Given the description of an element on the screen output the (x, y) to click on. 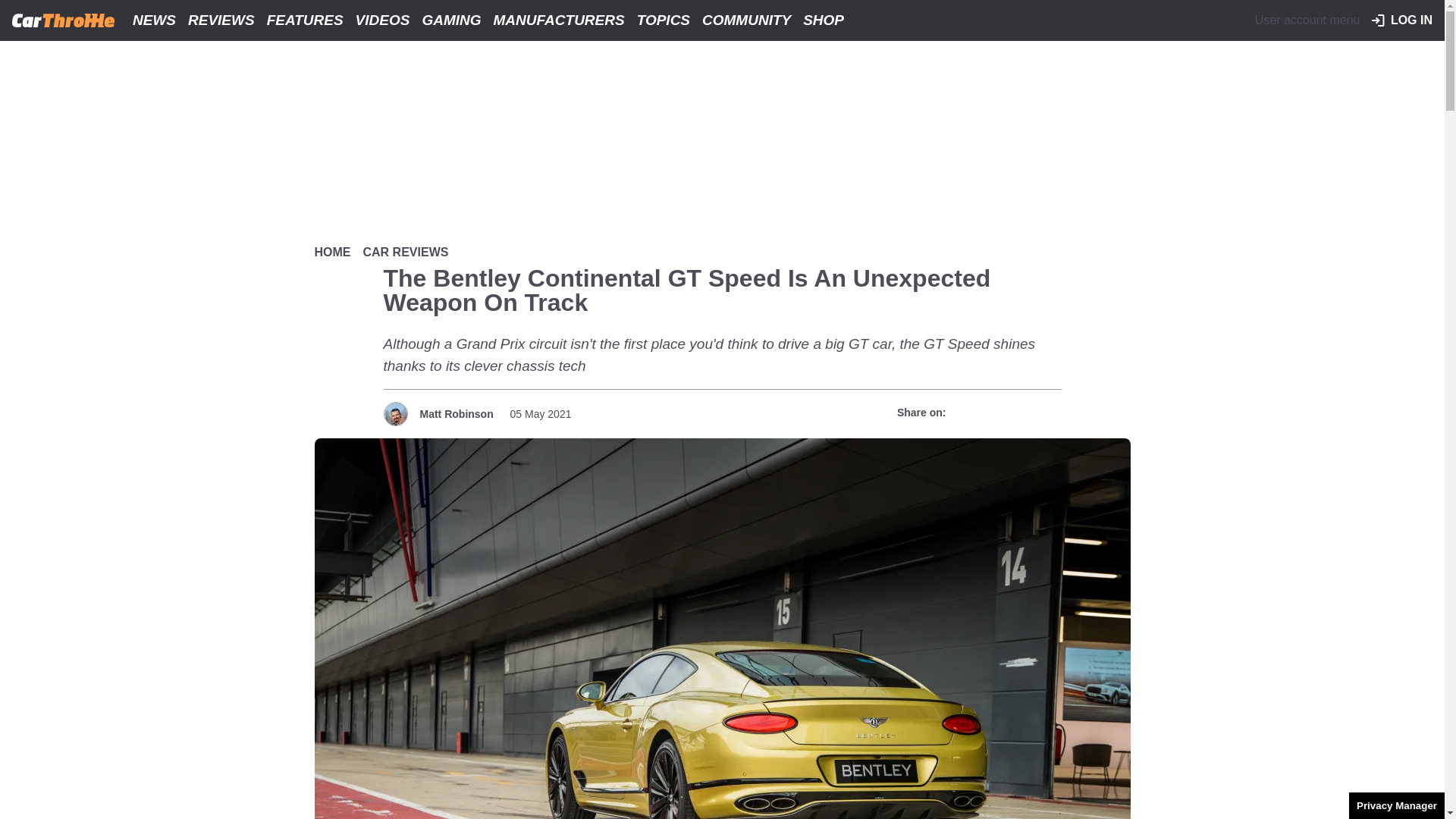
FEATURES (304, 20)
Share to Facebook (965, 412)
REVIEWS (221, 20)
Share to X (993, 412)
GAMING (450, 20)
Share to WhatsApp (1020, 412)
Share to Email (1047, 412)
MANUFACTURERS (558, 20)
NEWS (154, 20)
